Given the description of an element on the screen output the (x, y) to click on. 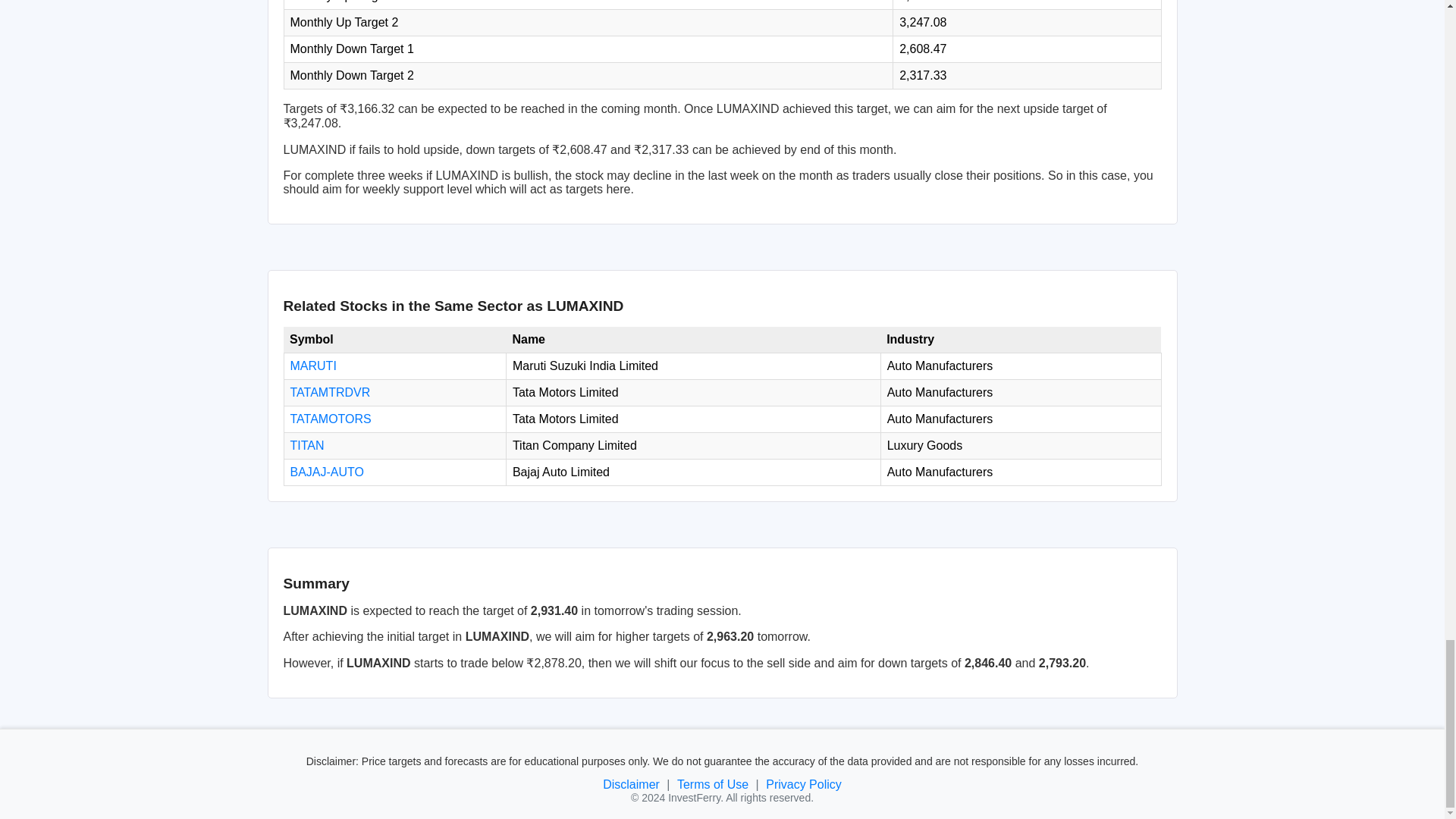
TITAN (306, 445)
Privacy Policy (803, 784)
Terms of Use (712, 784)
TATAMOTORS (330, 418)
BAJAJ-AUTO (326, 472)
TATAMTRDVR (329, 391)
Disclaimer (630, 784)
MARUTI (312, 365)
